Given the description of an element on the screen output the (x, y) to click on. 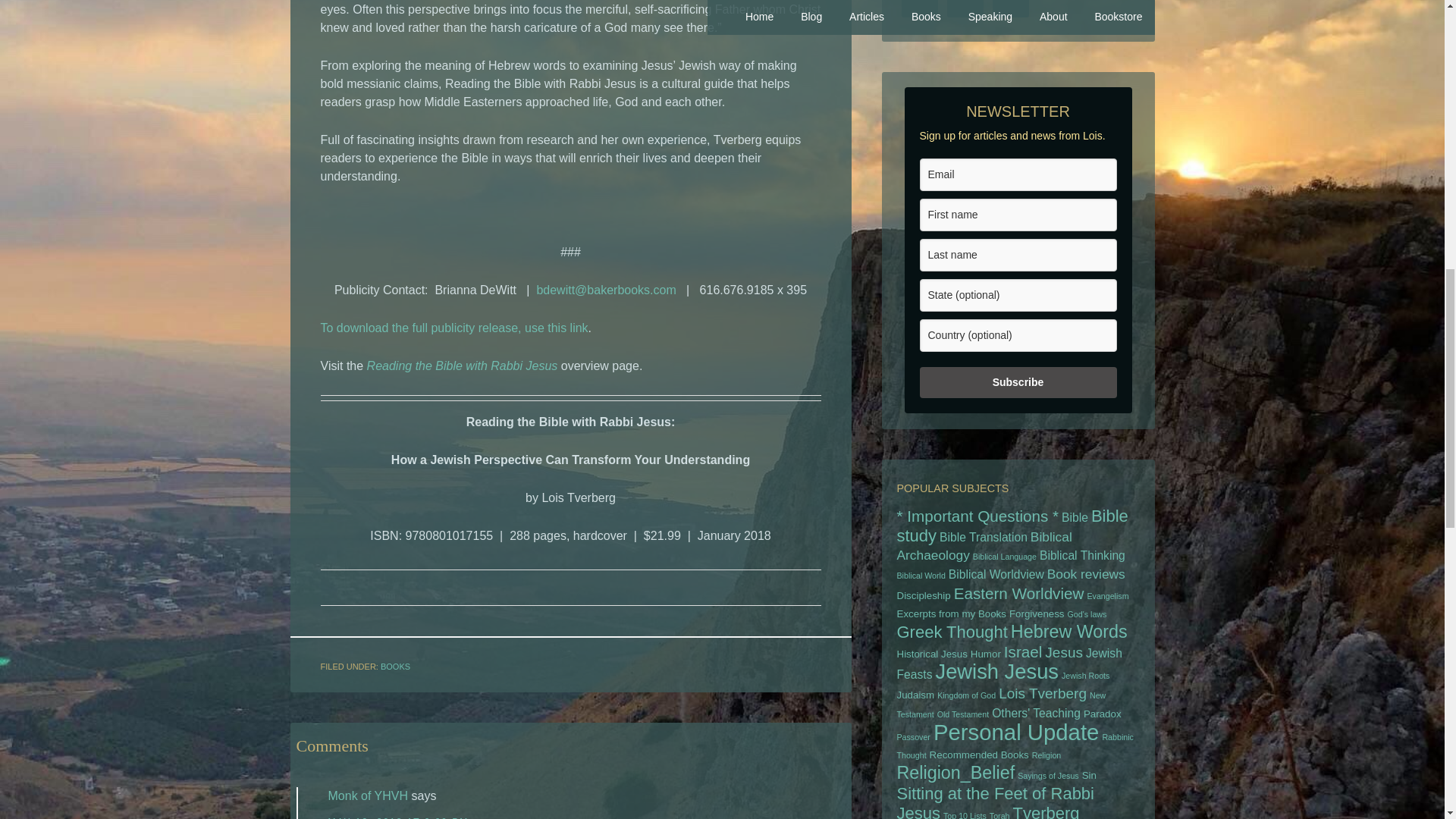
Biblical Language (1004, 556)
Biblical Worldview (996, 574)
Book reviews (1085, 573)
MAY 12, 2018 AT 2:29 PM (397, 817)
Bible study (1011, 525)
Biblical World (920, 574)
Monk of YHVH (367, 795)
Bible Translation (983, 536)
To download the full publicity release, use this link (454, 327)
Biblical Archaeology (983, 545)
Biblical Thinking (1082, 554)
Reading the Bible with Rabbi Jesus (461, 365)
Subscribe (1017, 382)
BOOKS (395, 665)
Bible (1074, 517)
